Given the description of an element on the screen output the (x, y) to click on. 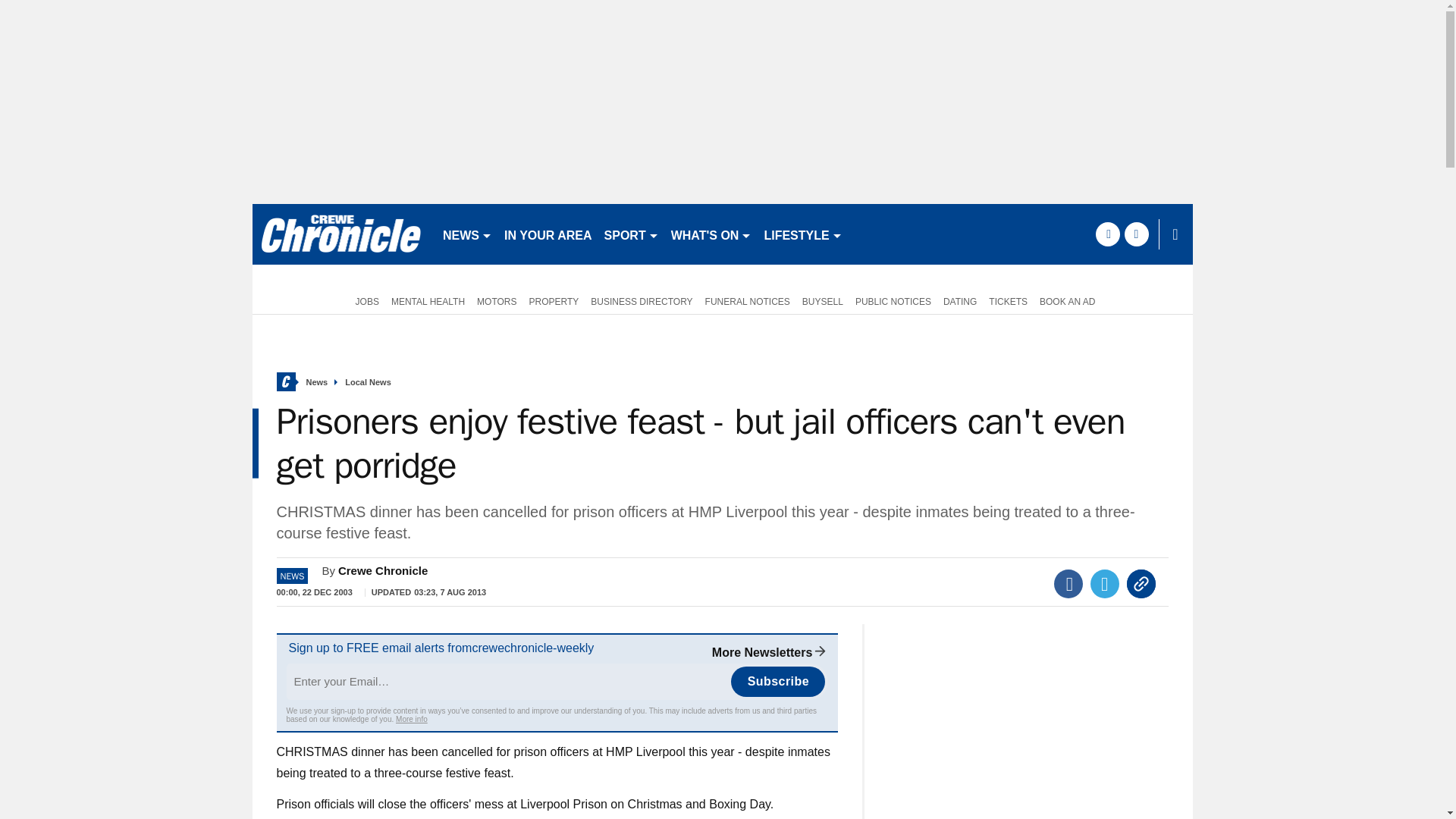
WHAT'S ON (711, 233)
NEWS (466, 233)
Twitter (1104, 583)
Facebook (1068, 583)
LIFESTYLE (802, 233)
facebook (1106, 233)
IN YOUR AREA (547, 233)
crewechronicle (340, 233)
SPORT (631, 233)
twitter (1136, 233)
